Given the description of an element on the screen output the (x, y) to click on. 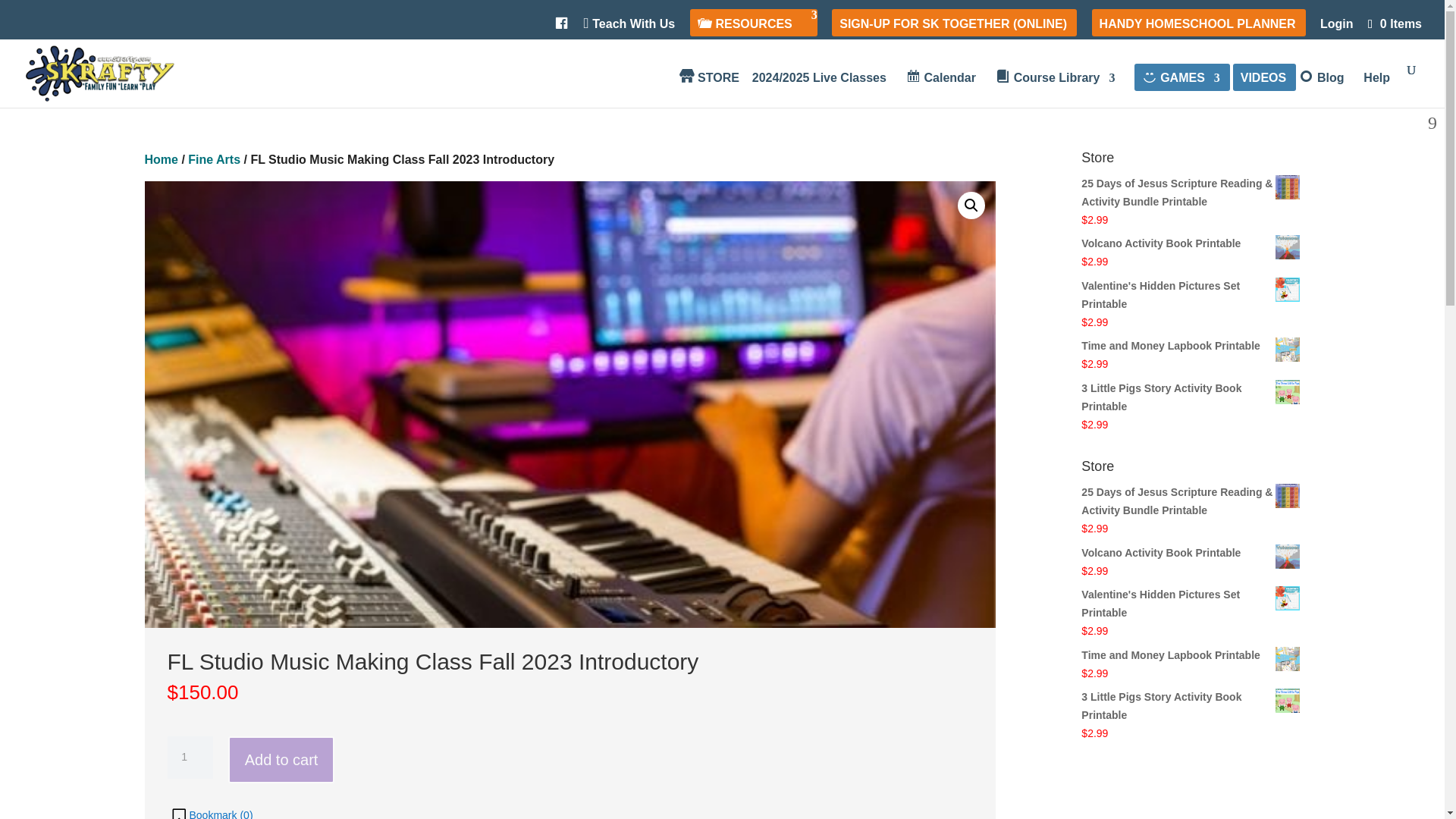
VIDEOS (1262, 89)
GAMES (1180, 89)
Blog (1320, 89)
Calendar (940, 89)
Bookmark This (211, 811)
RESOURCES (752, 28)
0 Items (1393, 23)
Login (1337, 28)
Teach With Us (629, 28)
